Given the description of an element on the screen output the (x, y) to click on. 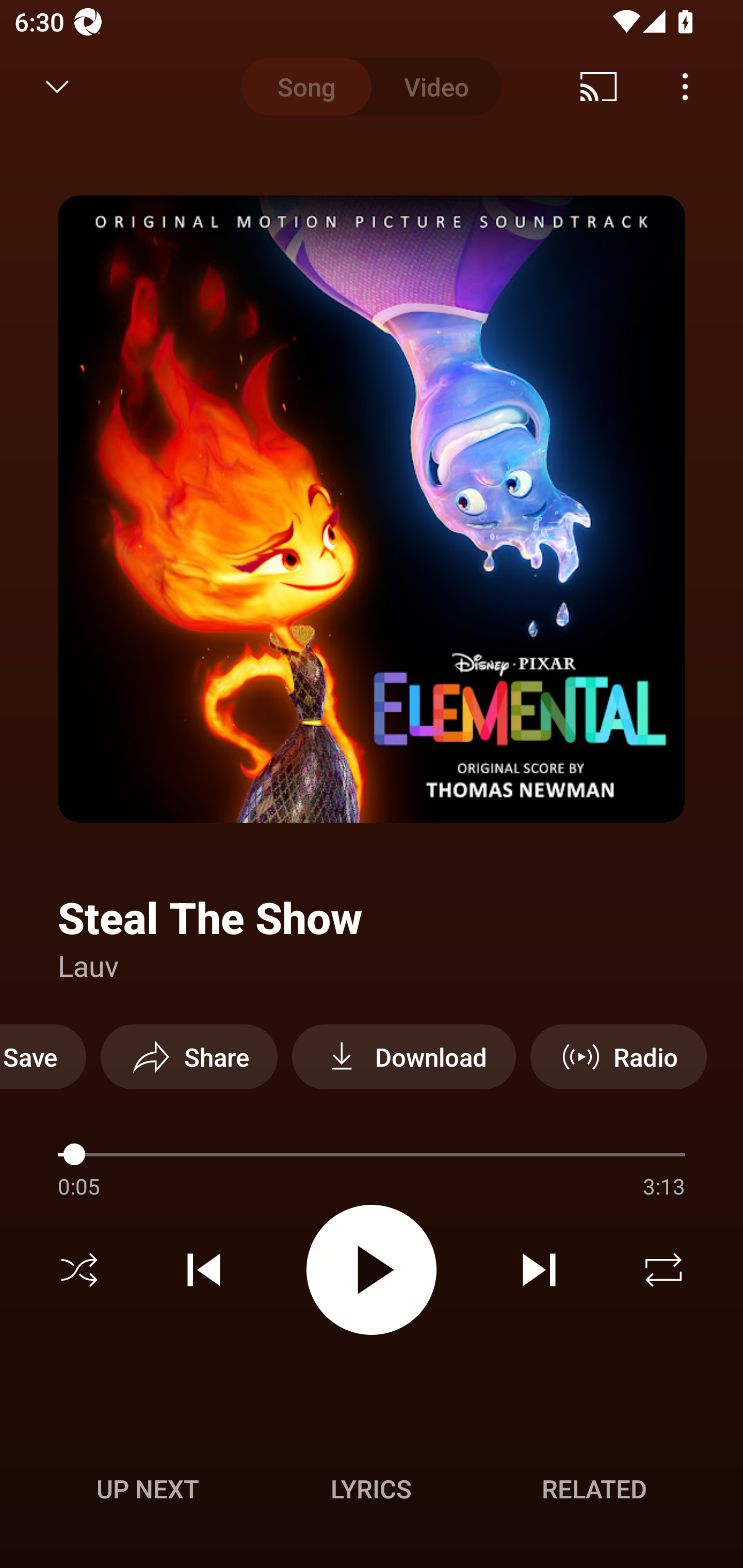
Minimize (57, 86)
Cast. Disconnected (598, 86)
Menu (684, 86)
Save Save to playlist (43, 1056)
Share (188, 1056)
Download (403, 1056)
Radio (618, 1056)
Play video (371, 1269)
Shuffle off (79, 1269)
Previous track (203, 1269)
Next track (538, 1269)
Repeat off (663, 1269)
Up next UP NEXT Lyrics LYRICS Related RELATED (371, 1491)
Lyrics LYRICS (370, 1488)
Related RELATED (594, 1488)
